Given the description of an element on the screen output the (x, y) to click on. 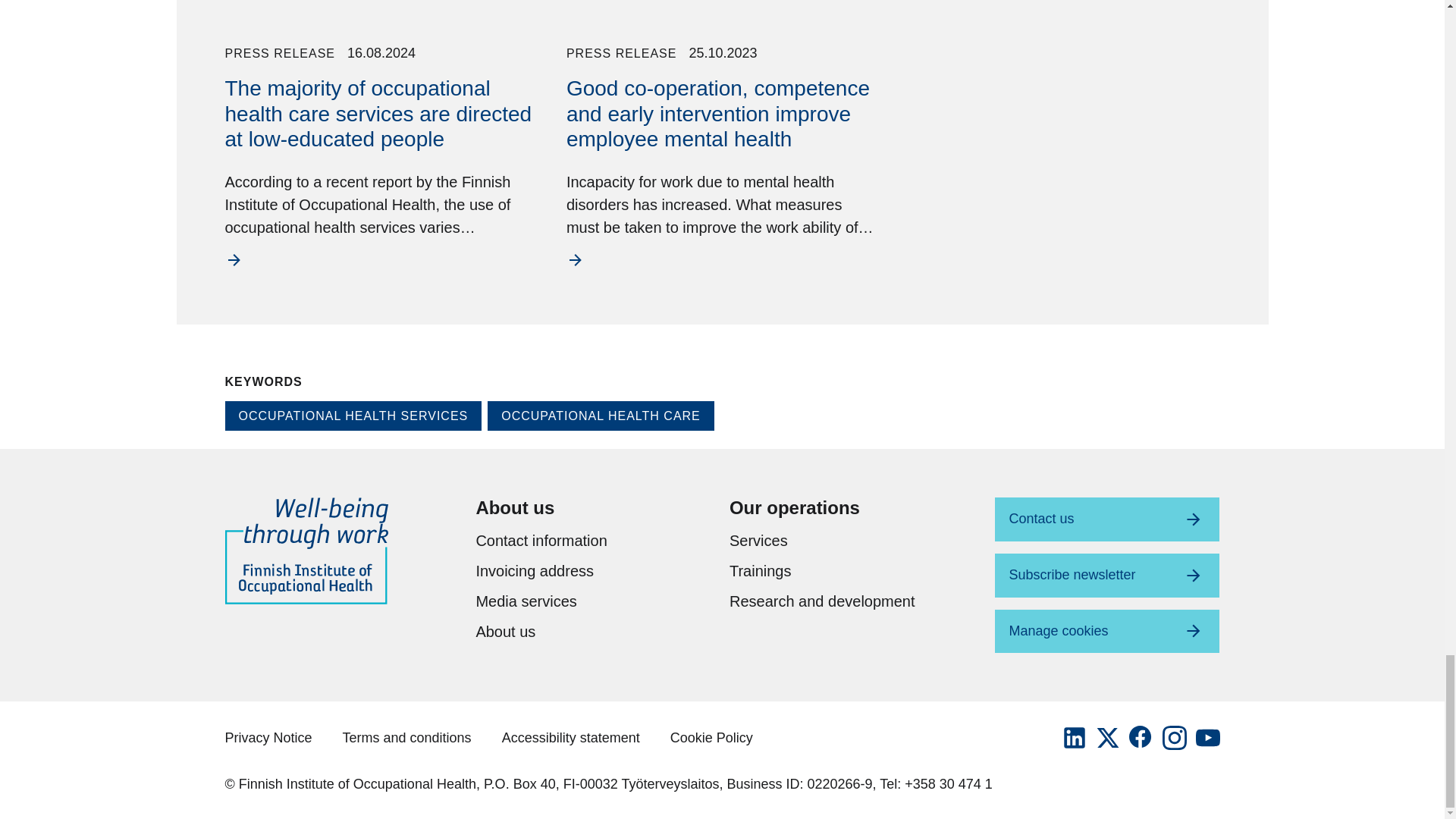
Home page (305, 550)
Instagram (1173, 737)
Facebook (1140, 737)
YouTube (1207, 737)
LinkedIn (1073, 737)
Twitter (1106, 737)
